Given the description of an element on the screen output the (x, y) to click on. 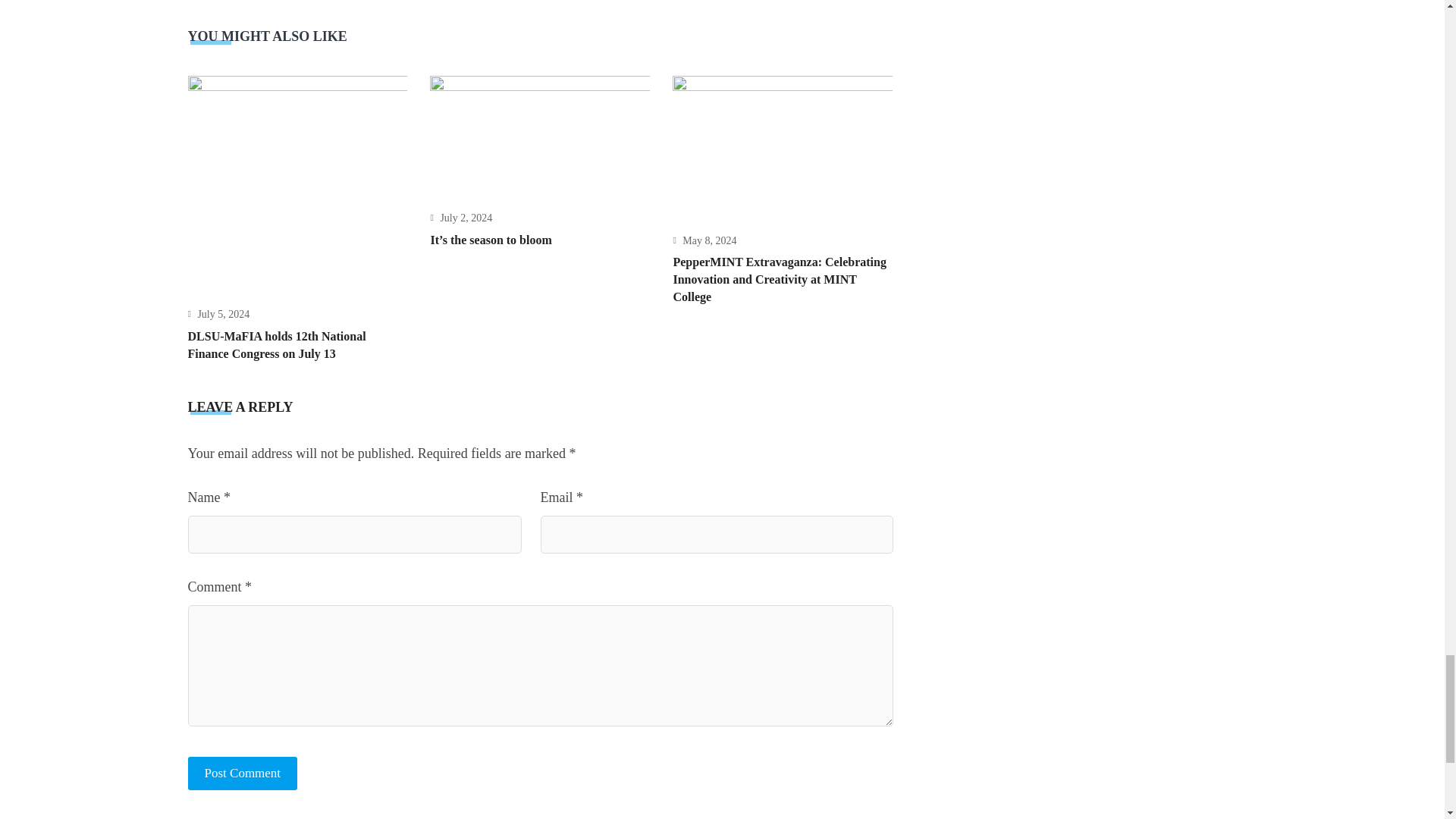
Post Comment (242, 773)
DLSU-MaFIA holds 12th National Finance Congress on July 13 (276, 345)
Post Comment (242, 773)
